Given the description of an element on the screen output the (x, y) to click on. 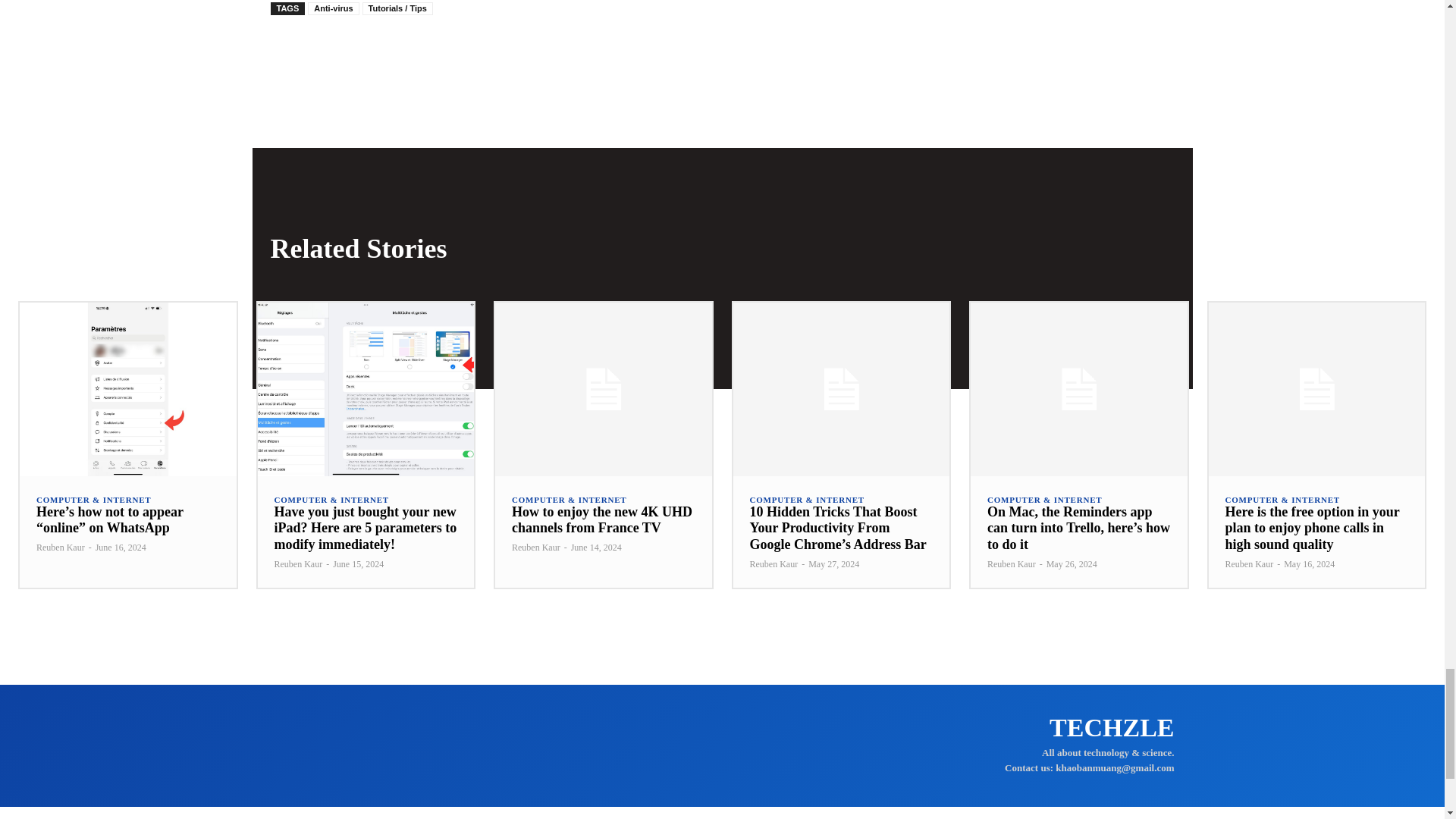
How to enjoy the new 4K UHD channels from France TV (603, 388)
How to enjoy the new 4K UHD channels from France TV (602, 520)
